Given the description of an element on the screen output the (x, y) to click on. 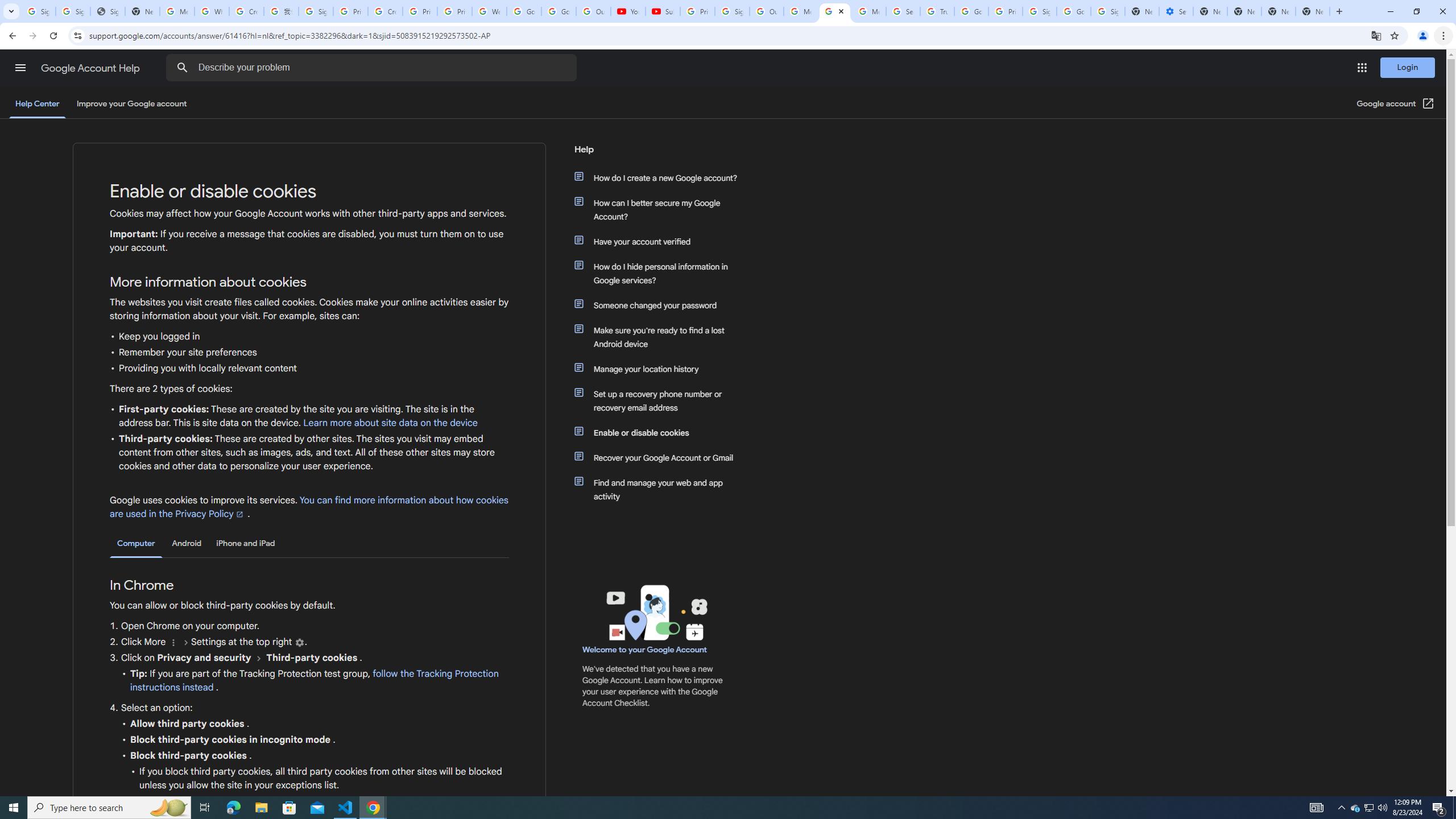
Search our Doodle Library Collection - Google Doodles (903, 11)
Have your account verified (661, 241)
Settings - Performance (1176, 11)
follow the Tracking Protection instructions instead (314, 680)
